Given the description of an element on the screen output the (x, y) to click on. 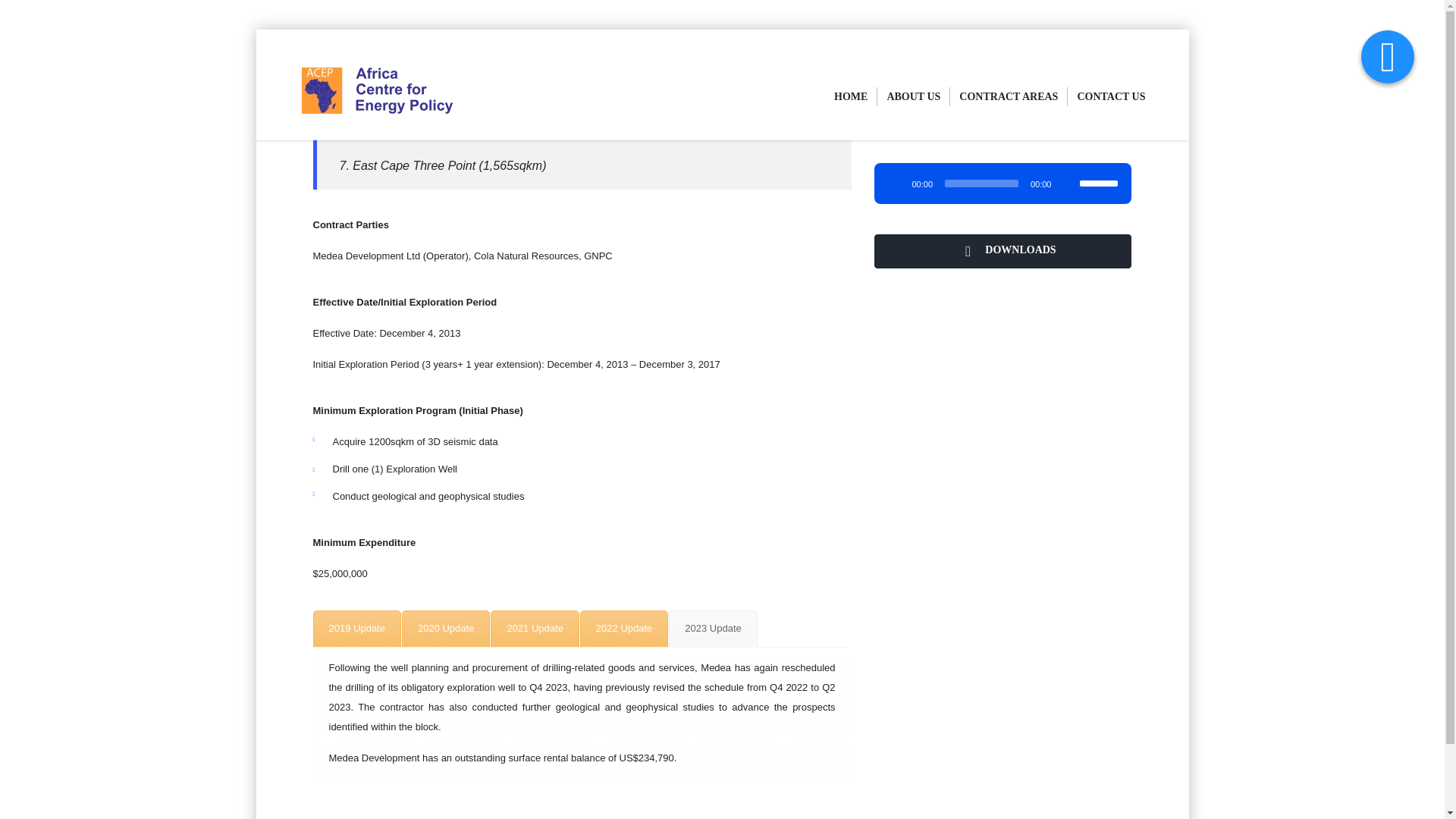
ABOUT US (913, 95)
DOWNLOADS (1002, 251)
2020 Update (445, 628)
2019 Update (356, 628)
CONTRACT AREAS (1008, 95)
2022 Update (623, 628)
2023 Update (712, 628)
HOME (850, 95)
CONTACT US (1110, 95)
2021 Update (534, 628)
Play (894, 183)
Mute (1067, 183)
